Given the description of an element on the screen output the (x, y) to click on. 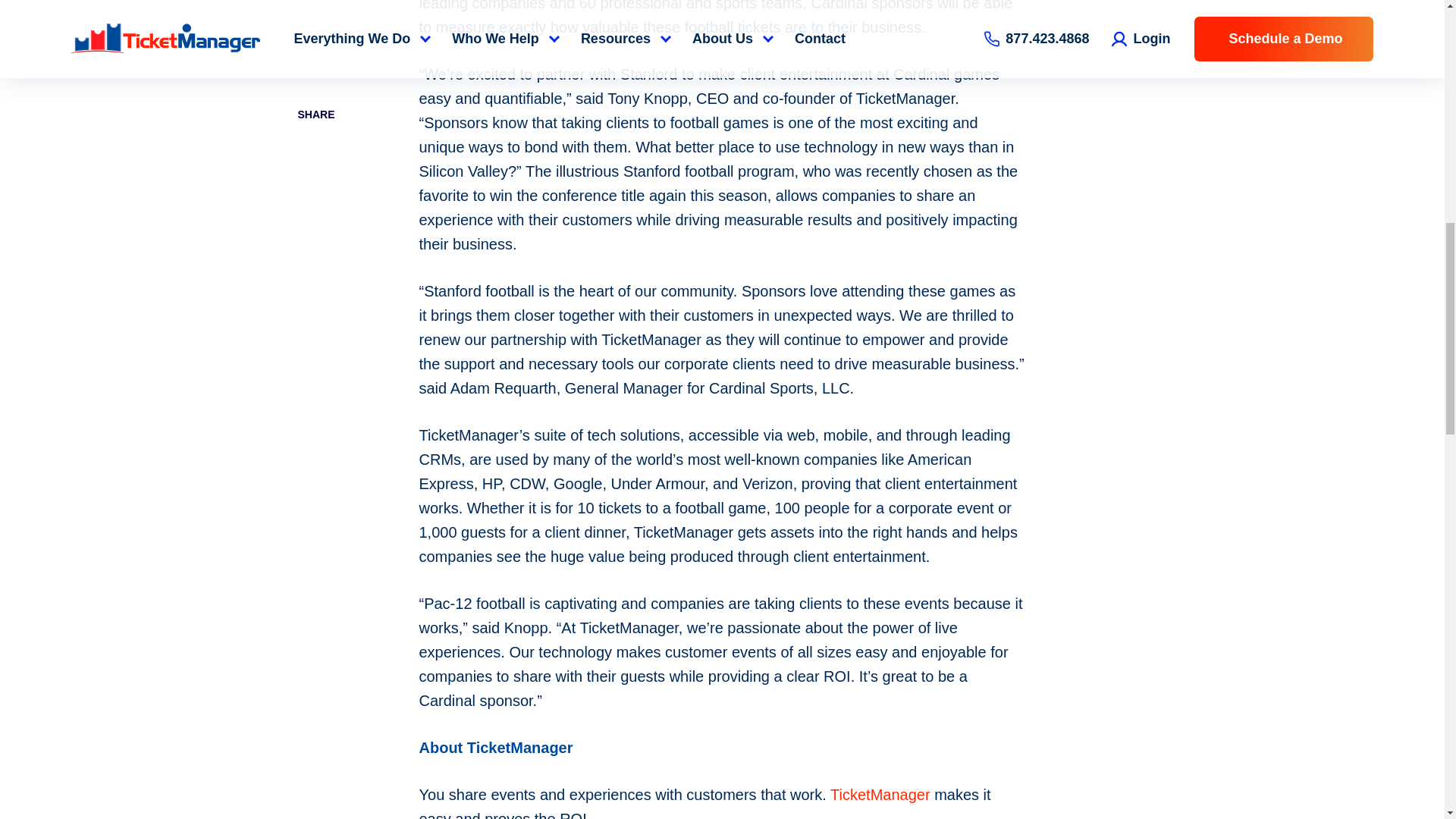
TicketManager (879, 794)
